Given the description of an element on the screen output the (x, y) to click on. 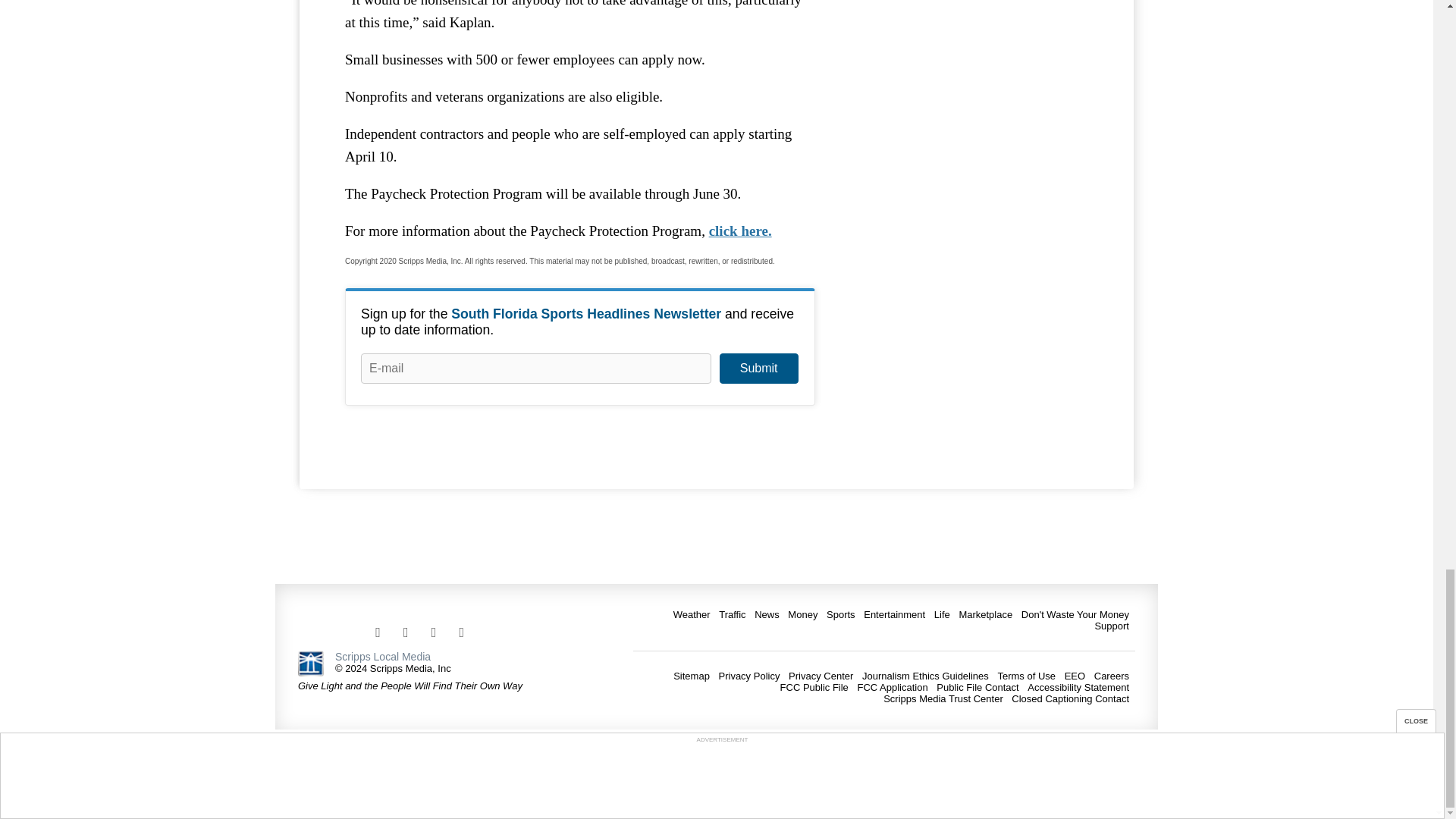
Submit (758, 368)
